Given the description of an element on the screen output the (x, y) to click on. 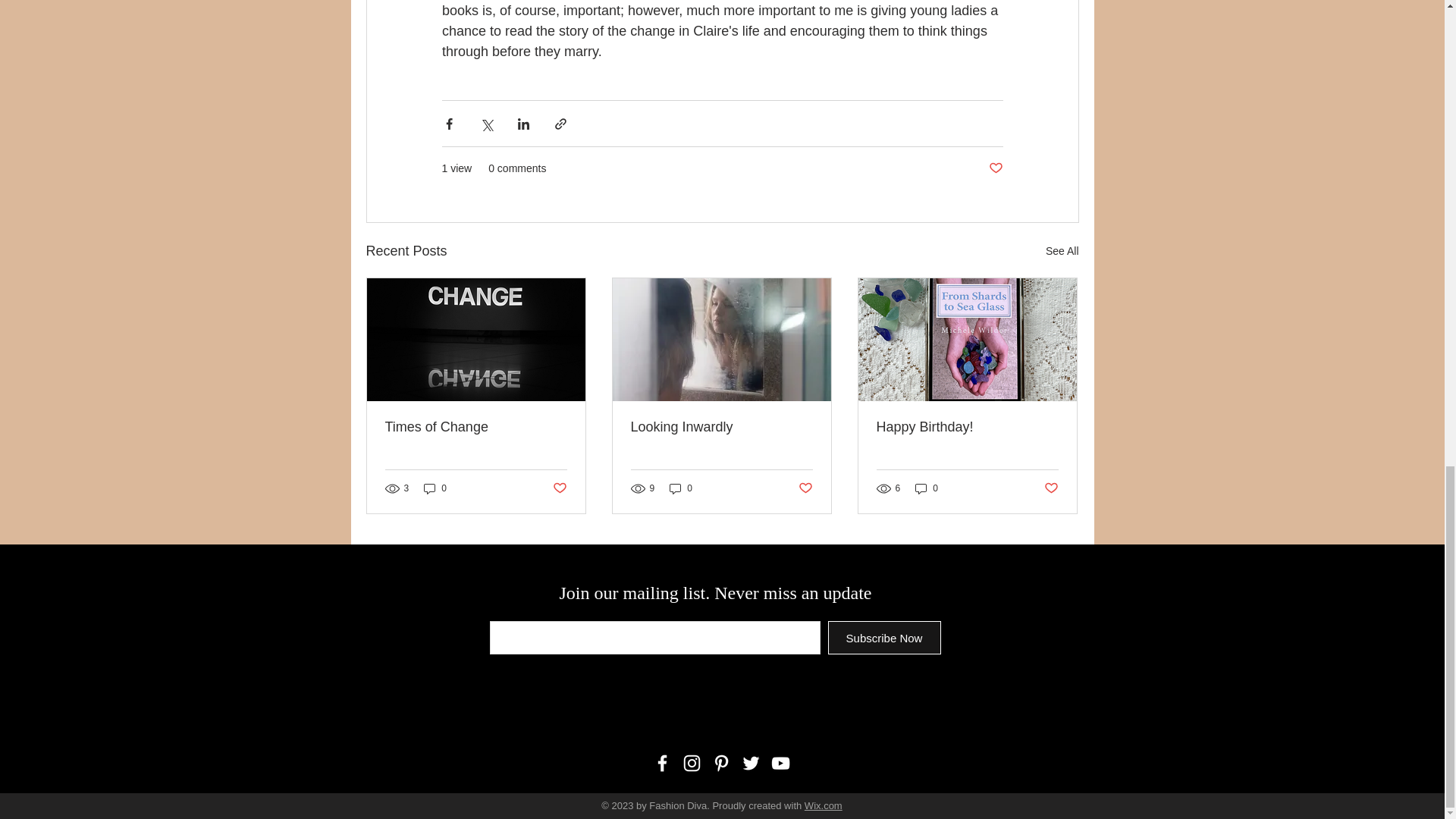
0 (926, 488)
0 (681, 488)
Wix.com (824, 805)
0 (435, 488)
Post not marked as liked (995, 168)
Post not marked as liked (1050, 487)
Looking Inwardly (721, 426)
Subscribe Now (884, 637)
Times of Change (476, 426)
Post not marked as liked (804, 487)
